Given the description of an element on the screen output the (x, y) to click on. 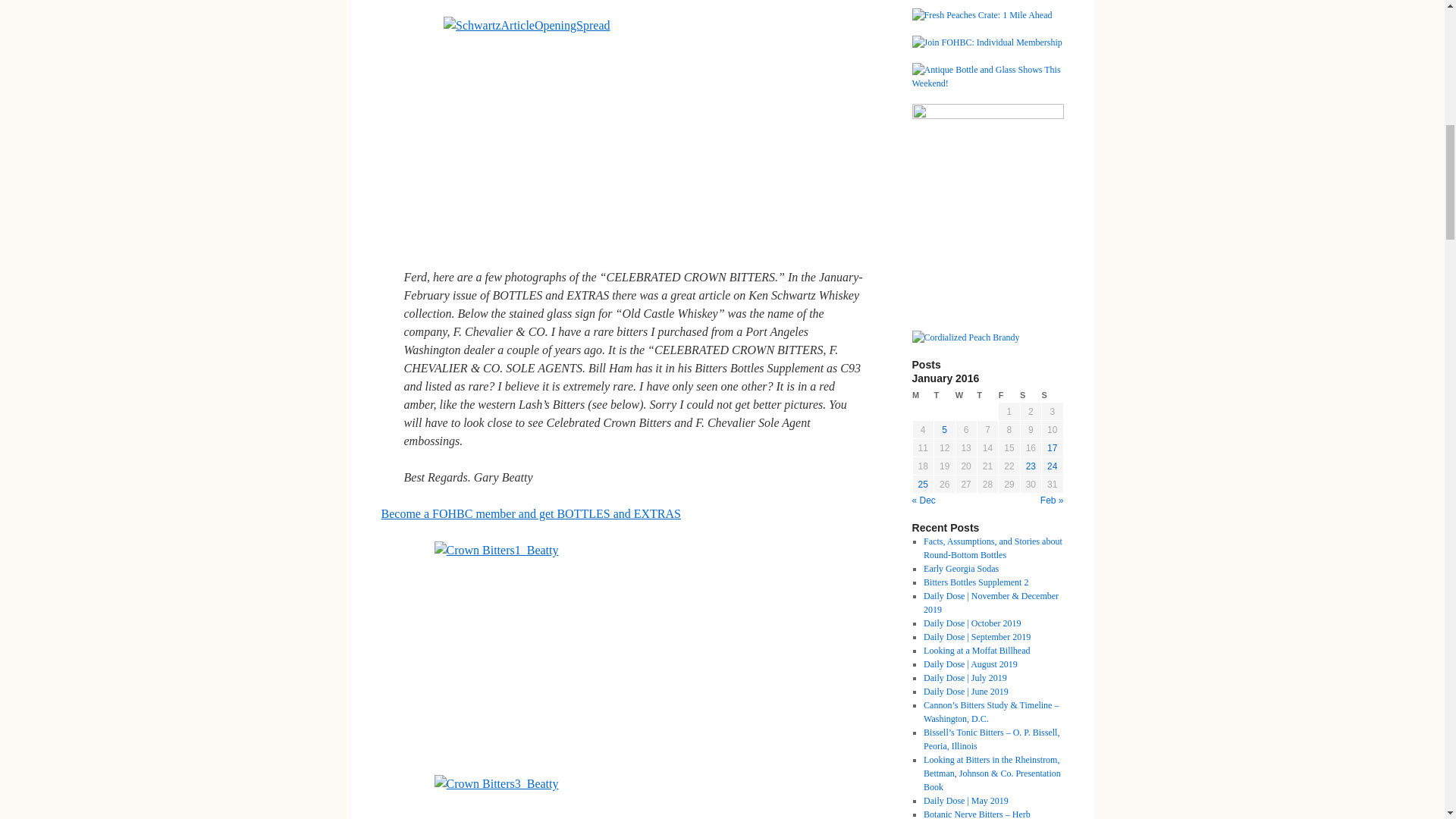
Become a FOHBC member and get BOTTLES and EXTRAS (530, 513)
Join FOHBC: Individual Membership (986, 42)
Cordialized Peach Brandy (965, 336)
Fresh Peaches Crate: 1 Mile Ahead (981, 15)
Antique Bottle and Glass Shows This Weekend! (986, 76)
Tuesday (944, 395)
Monday (922, 395)
